Given the description of an element on the screen output the (x, y) to click on. 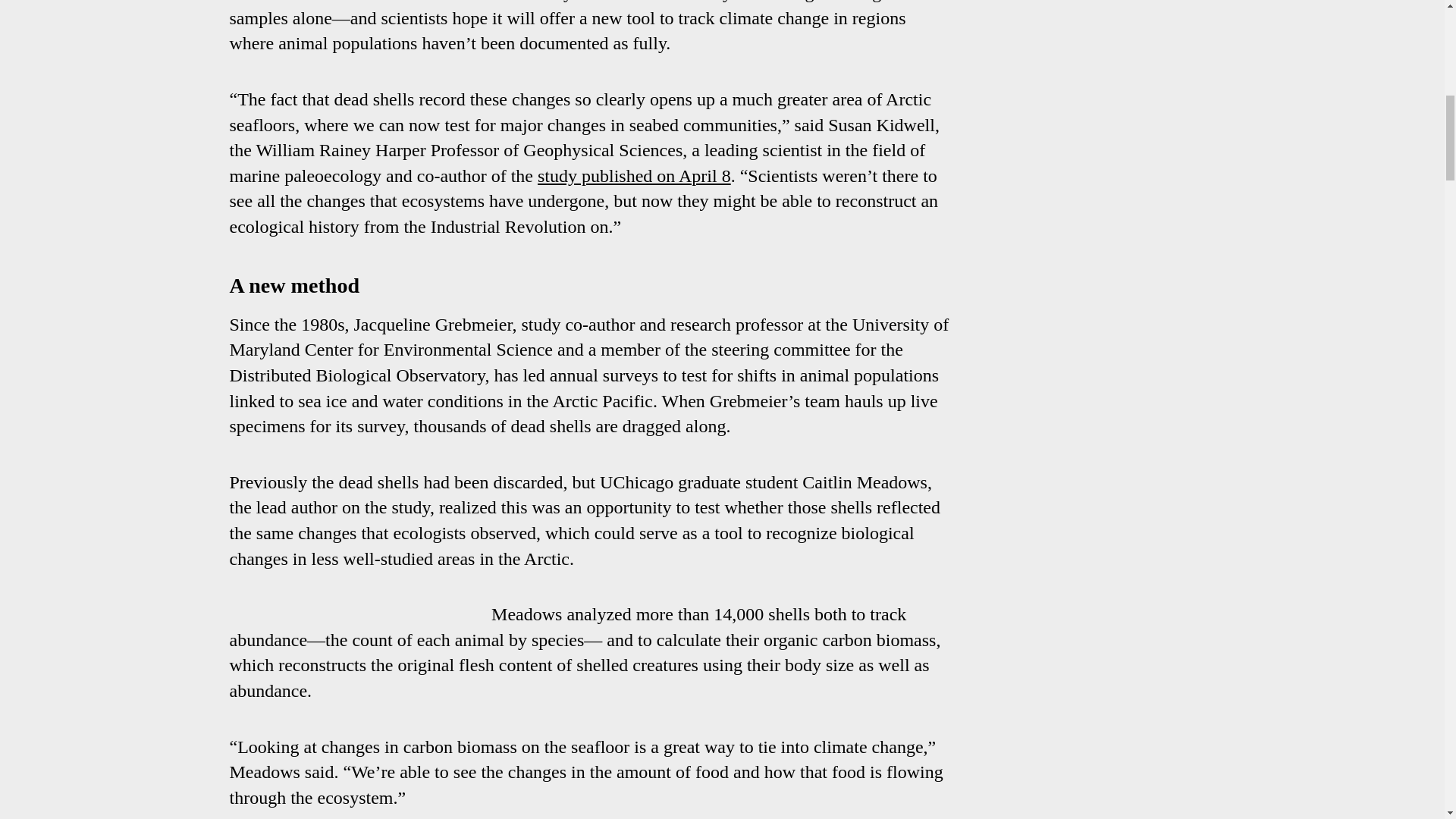
study published on April 8 (633, 175)
